Given the description of an element on the screen output the (x, y) to click on. 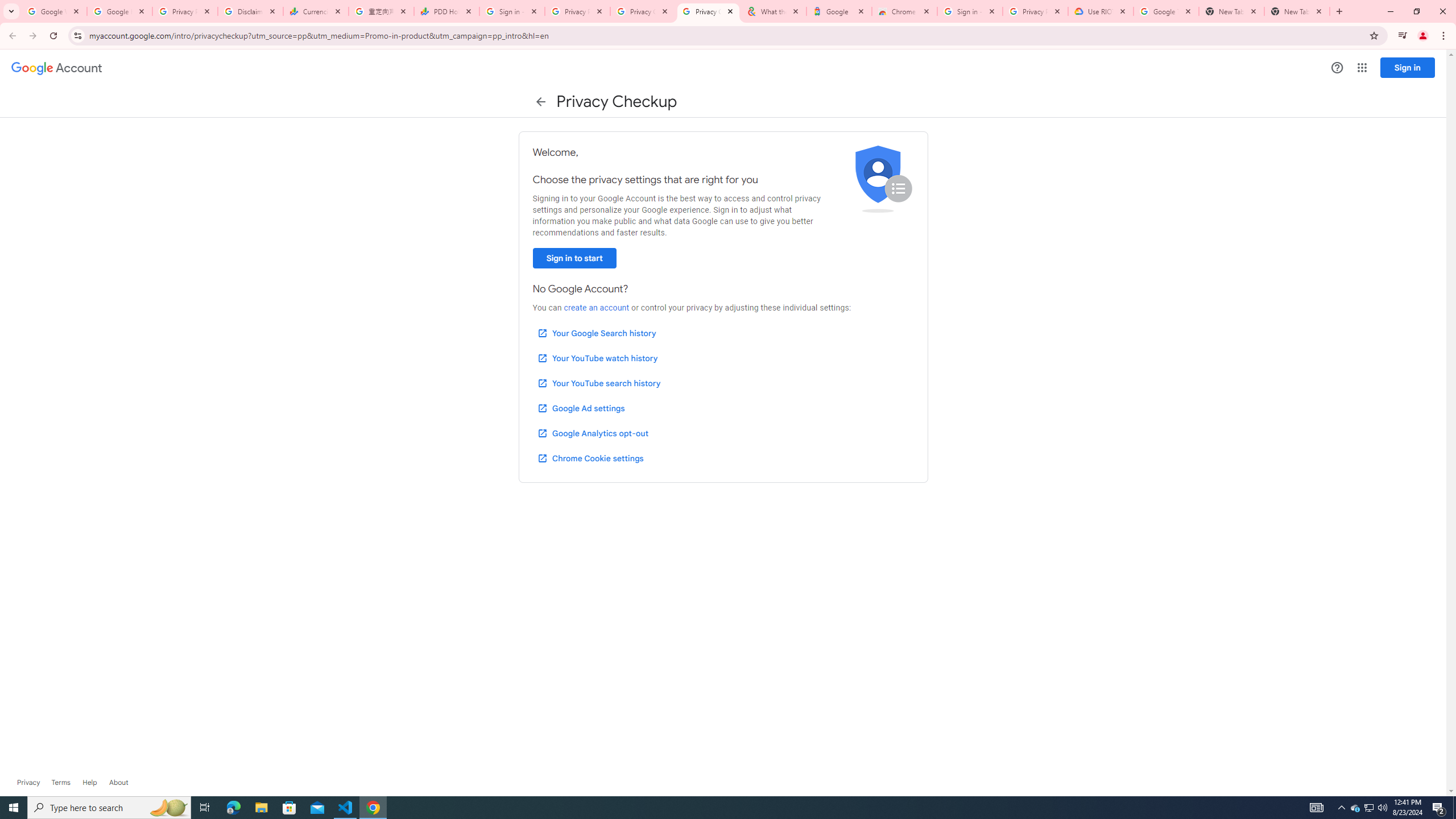
Google Workspace Admin Community (53, 11)
Your Google Search history (596, 332)
